Given the description of an element on the screen output the (x, y) to click on. 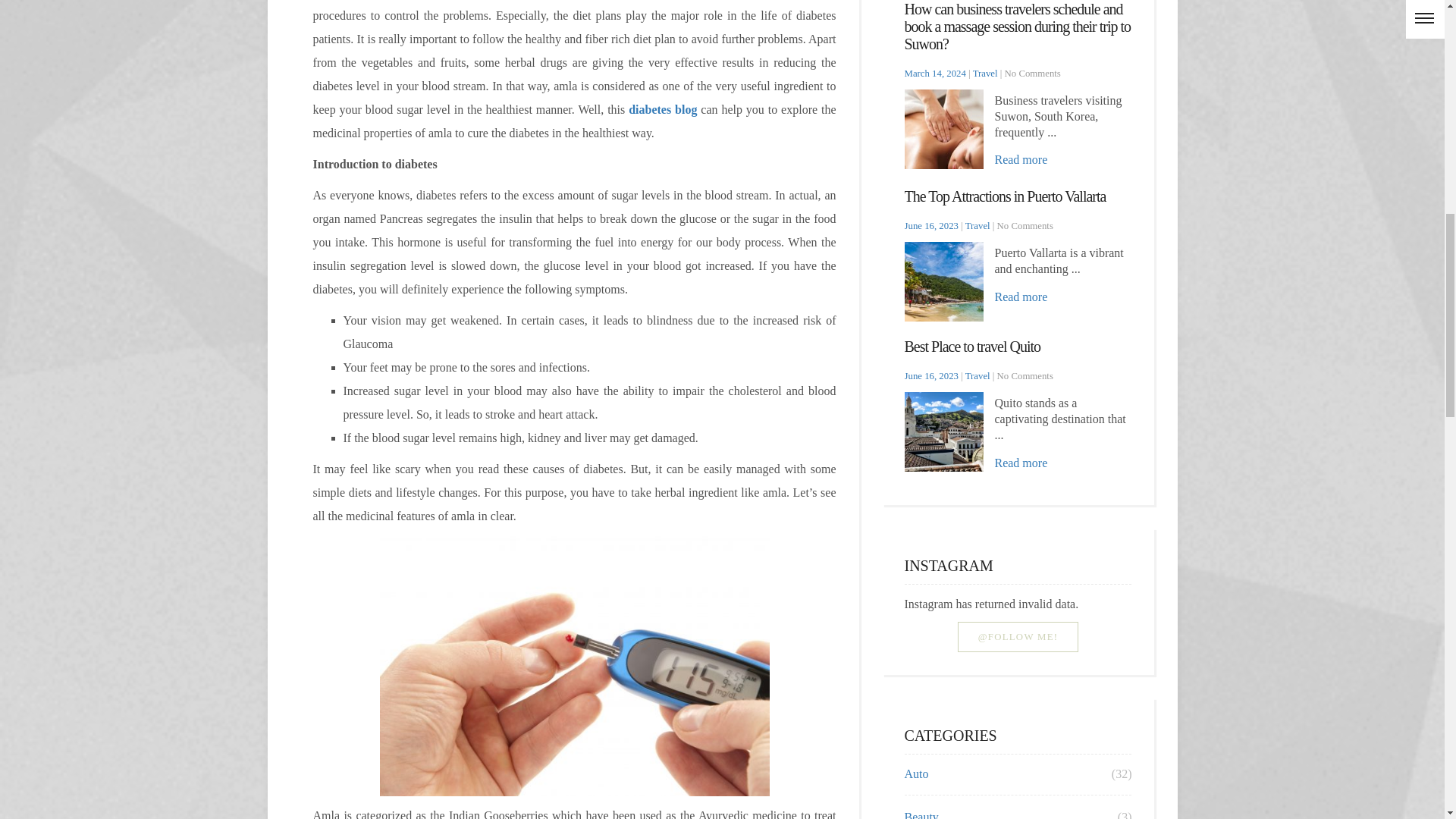
March 14, 2024 (934, 72)
Travel (984, 72)
The Top Attractions in Puerto Vallarta (1004, 196)
Read more (1020, 296)
Best Place to travel Quito (972, 346)
June 16, 2023 (931, 376)
June 16, 2023 (931, 225)
diabetes blog (662, 109)
The Top Attractions in Puerto Vallarta (1004, 196)
Read more (1020, 159)
Travel (977, 225)
Best Place to travel Quito (972, 346)
